Given the description of an element on the screen output the (x, y) to click on. 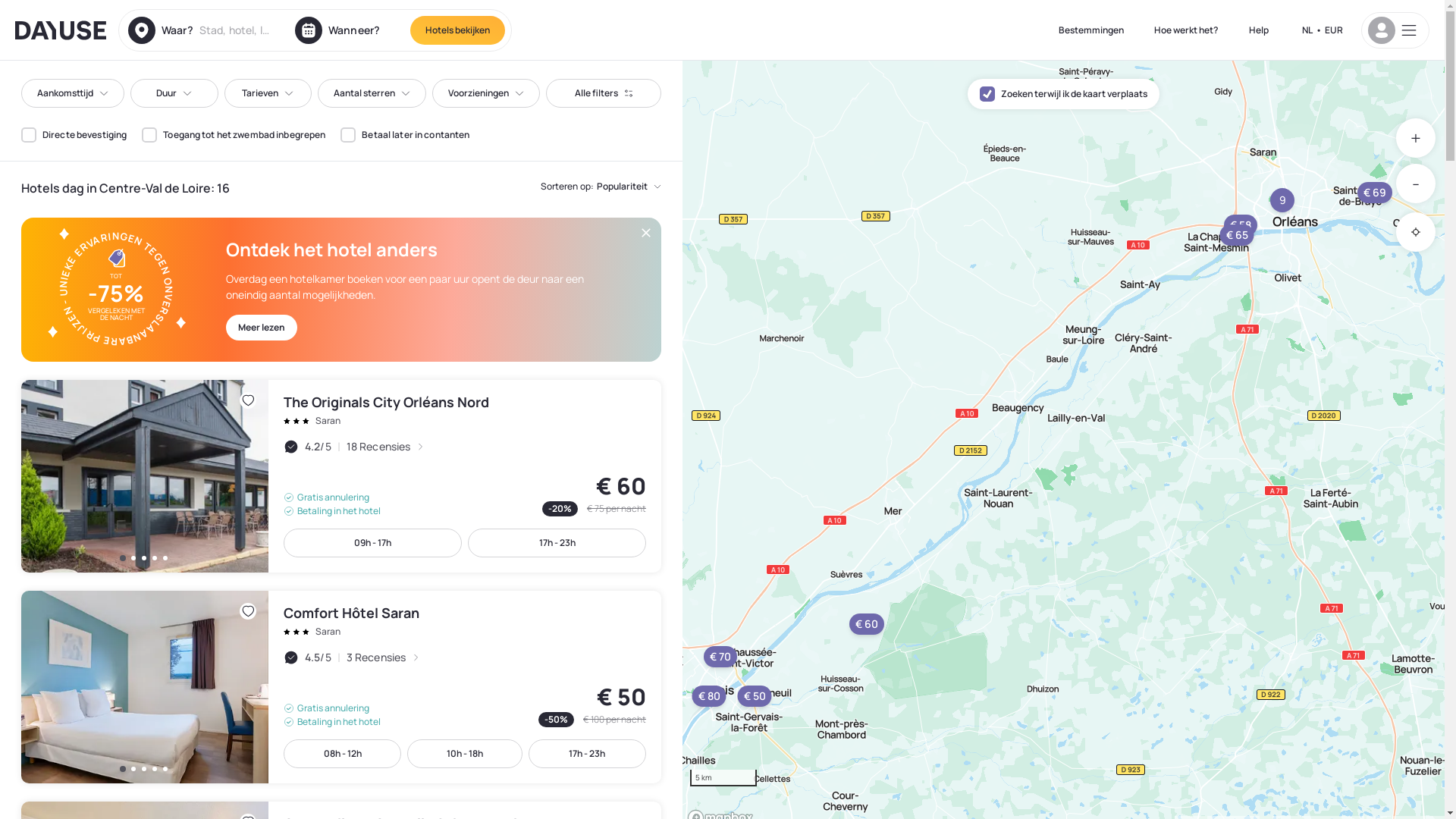
Tarieven Element type: text (268, 92)
Zoom out
- Element type: text (1415, 183)
Zoeken terwijl ik de kaart verplaats Element type: text (1063, 93)
10h - 18h Element type: text (464, 753)
08h - 12h Element type: text (342, 753)
Aankomsttijd Element type: text (72, 92)
Duur Element type: text (174, 92)
Zoom in
+ Element type: text (1415, 137)
Location Element type: text (1415, 231)
Alle filters Element type: text (603, 92)
Sorteren op:
Populariteit Element type: text (600, 186)
17h - 23h Element type: text (587, 753)
17h - 23h Element type: text (556, 542)
Hoe werkt het? Element type: text (1186, 29)
Wanneer? Element type: text (347, 29)
Voorzieningen Element type: text (485, 92)
Hotels bekijken Element type: text (457, 29)
09h - 17h Element type: text (372, 542)
Help Element type: text (1258, 29)
Bestemmingen Element type: text (1091, 29)
Aantal sterren Element type: text (371, 92)
Dayuse Element type: text (60, 29)
